Given the description of an element on the screen output the (x, y) to click on. 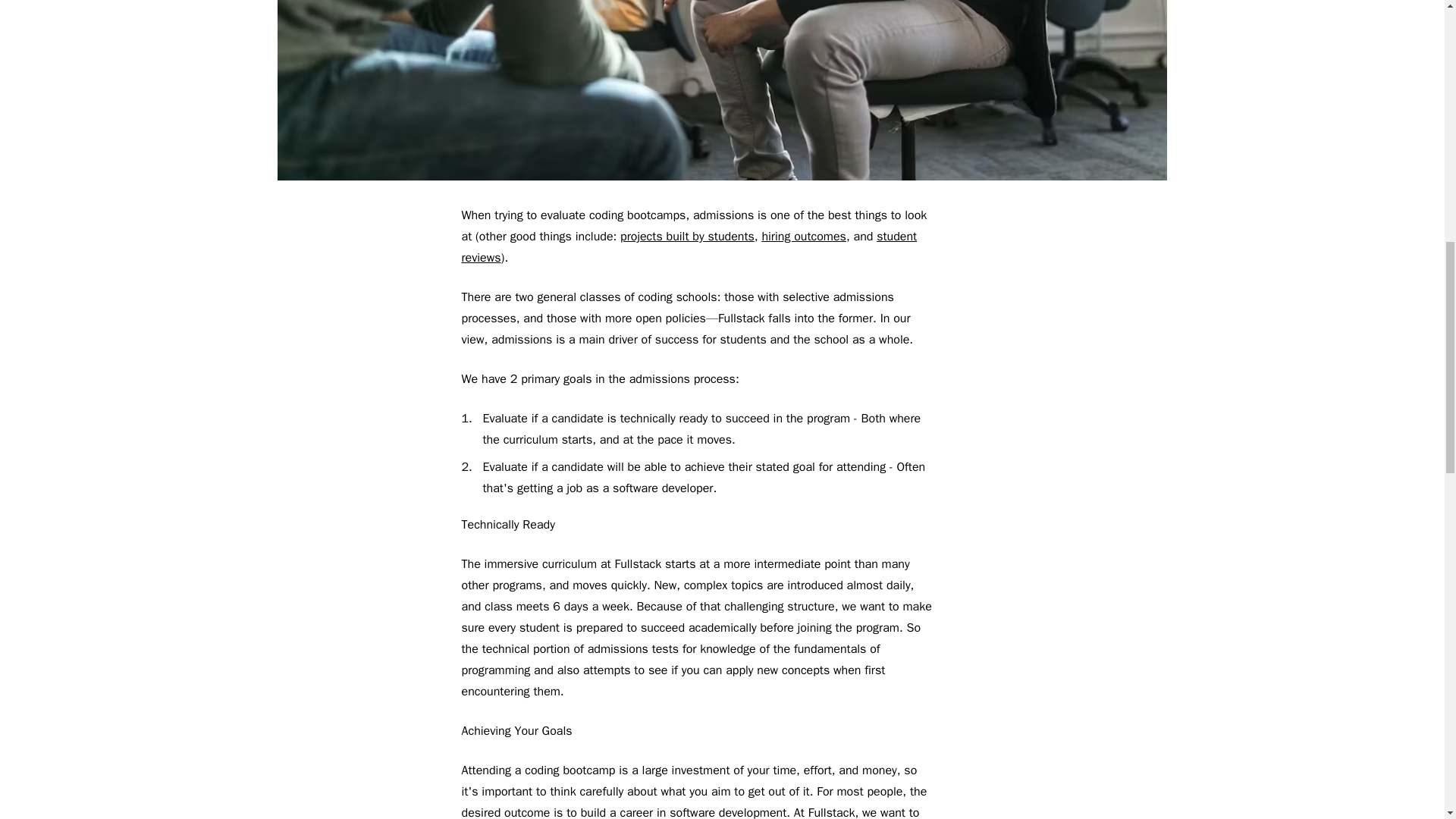
student reviews (689, 247)
projects built by students (687, 236)
hiring outcomes (803, 236)
